Given the description of an element on the screen output the (x, y) to click on. 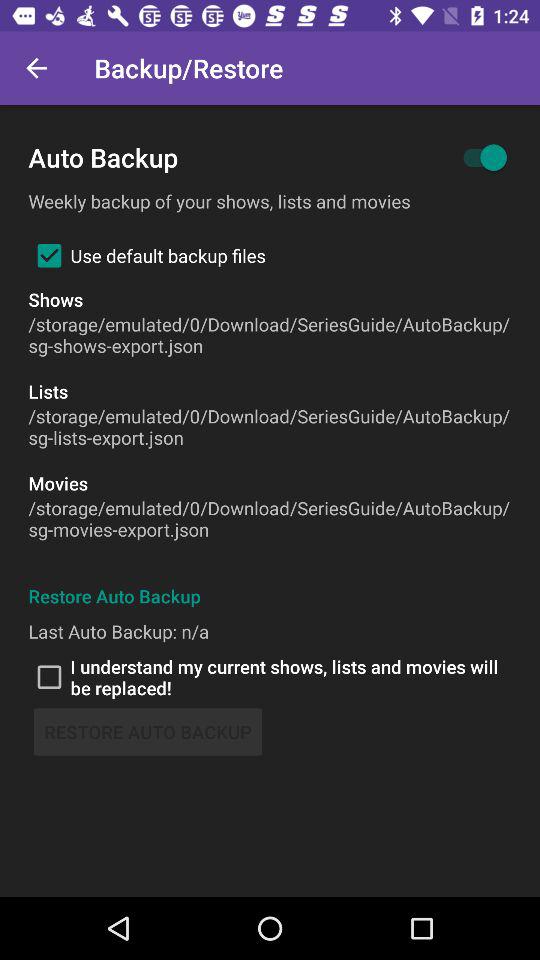
open icon above the restore auto backup icon (269, 677)
